Given the description of an element on the screen output the (x, y) to click on. 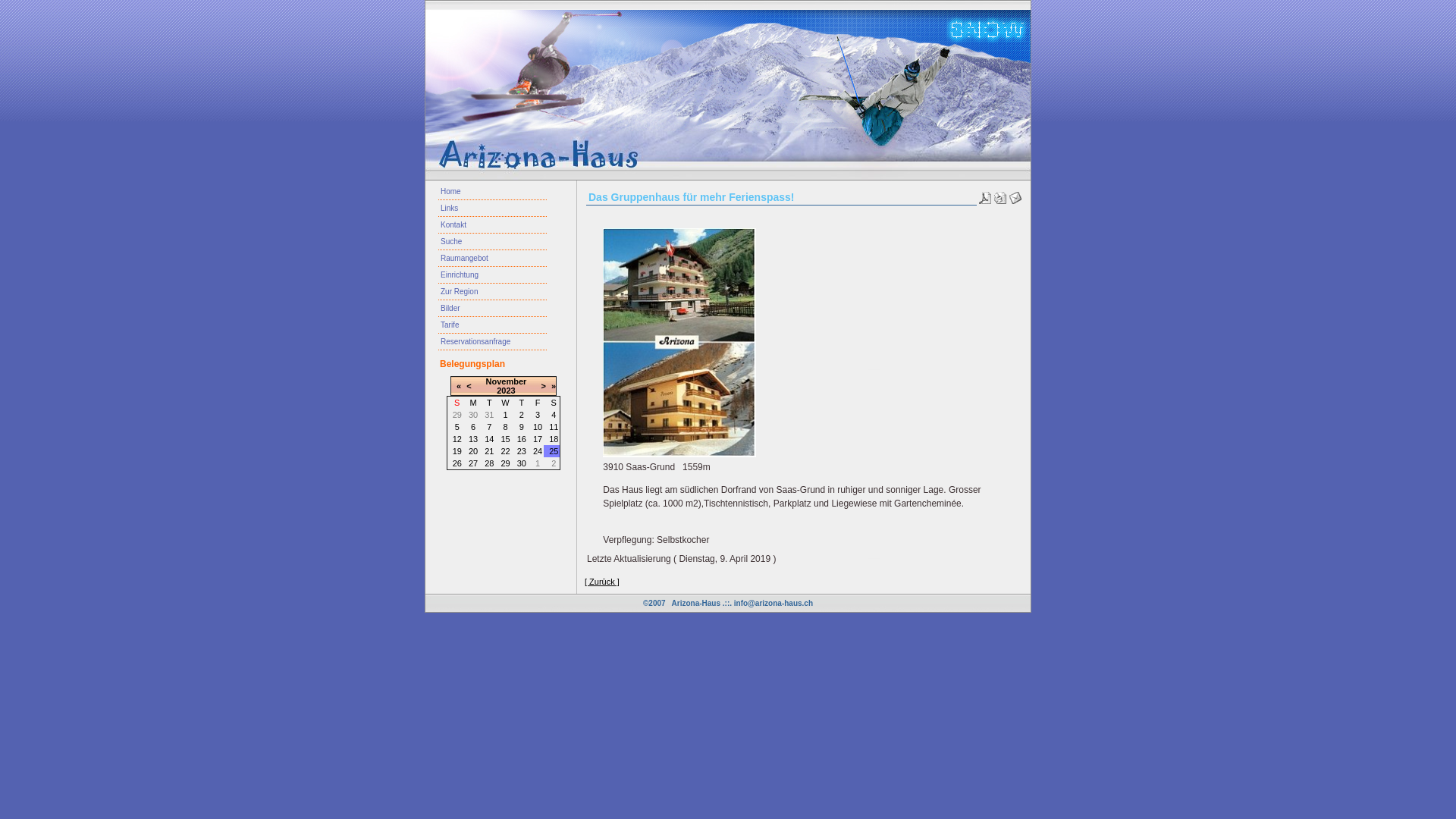
Reservationsanfrage Element type: text (492, 341)
Bilder Element type: text (492, 308)
info@arizona-haus.ch Element type: text (773, 603)
16 Element type: text (521, 438)
4 Element type: text (553, 414)
11 Element type: text (553, 426)
27 Element type: text (472, 462)
Zur Region Element type: text (492, 291)
2023 Element type: text (505, 390)
18 Element type: text (553, 438)
6 Element type: text (472, 426)
7 Element type: text (488, 426)
Home Element type: text (492, 191)
Arizona Element type: hover (679, 342)
14 Element type: text (488, 438)
5 Element type: text (457, 426)
Raumangebot Element type: text (492, 258)
Links Element type: text (492, 208)
10 Element type: text (537, 426)
23 Element type: text (521, 450)
22 Element type: text (504, 450)
26 Element type: text (456, 462)
PDF Element type: hover (985, 194)
15 Element type: text (504, 438)
Drucken Element type: hover (1000, 194)
3 Element type: text (537, 414)
25 Element type: text (553, 450)
29 Element type: text (504, 462)
E-Mail Element type: hover (1015, 194)
Suche Element type: text (492, 241)
19 Element type: text (456, 450)
21 Element type: text (488, 450)
24 Element type: text (537, 450)
Einrichtung Element type: text (492, 274)
November Element type: text (506, 380)
9 Element type: text (521, 426)
Arizona-Haus Element type: text (695, 603)
20 Element type: text (472, 450)
12 Element type: text (456, 438)
13 Element type: text (472, 438)
2 Element type: text (521, 414)
< Element type: text (468, 385)
Kontakt Element type: text (492, 224)
Tarife Element type: text (492, 324)
8 Element type: text (504, 426)
28 Element type: text (488, 462)
30 Element type: text (521, 462)
1 Element type: text (504, 414)
17 Element type: text (537, 438)
> Element type: text (542, 385)
